Given the description of an element on the screen output the (x, y) to click on. 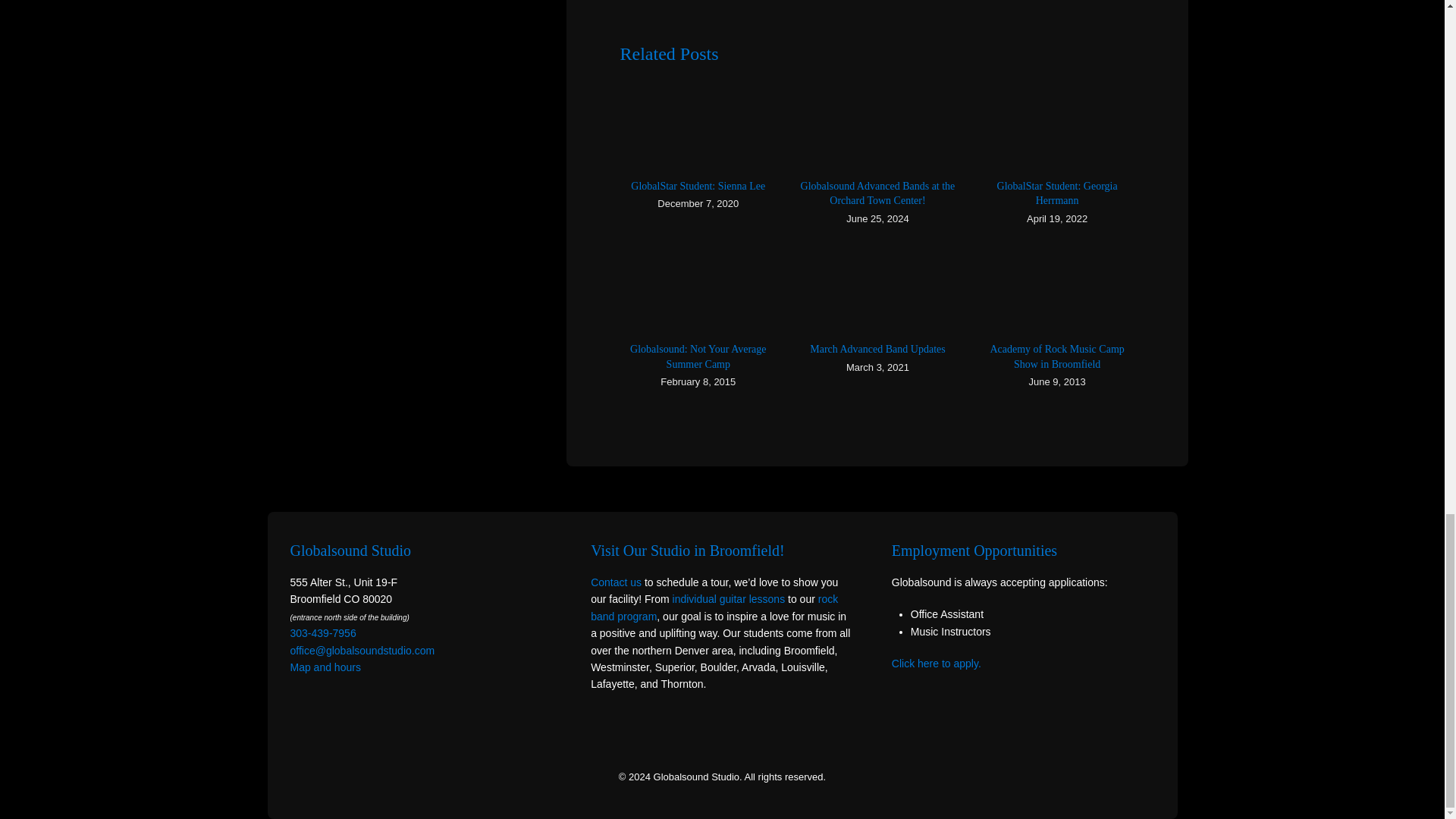
GlobalStar Student: Georgia Herrmann (1057, 193)
Globalsound Advanced Bands at the Orchard Town Center! (877, 193)
March Advanced Band Updates (876, 348)
GlobalStar Student: Sienna Lee (697, 185)
Globalsound: Not Your Average Summer Camp (697, 356)
GlobalStar Student: Sienna Lee (697, 185)
